Given the description of an element on the screen output the (x, y) to click on. 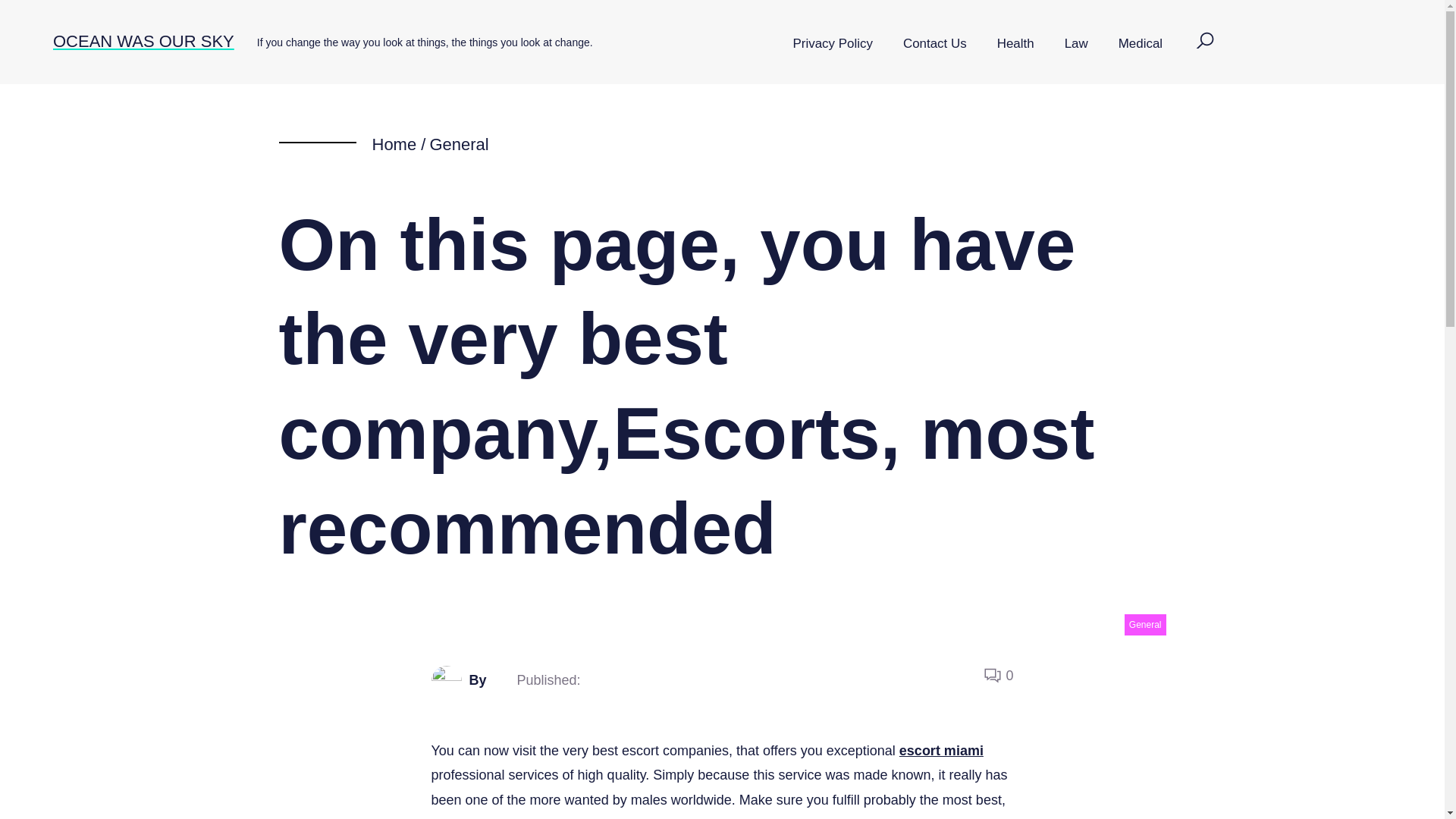
OCEAN WAS OUR SKY (143, 40)
General (458, 144)
General (1145, 624)
Medical (1140, 43)
Home (393, 144)
Health (1015, 43)
escort miami (941, 750)
Privacy Policy (832, 43)
Contact Us (934, 43)
